Given the description of an element on the screen output the (x, y) to click on. 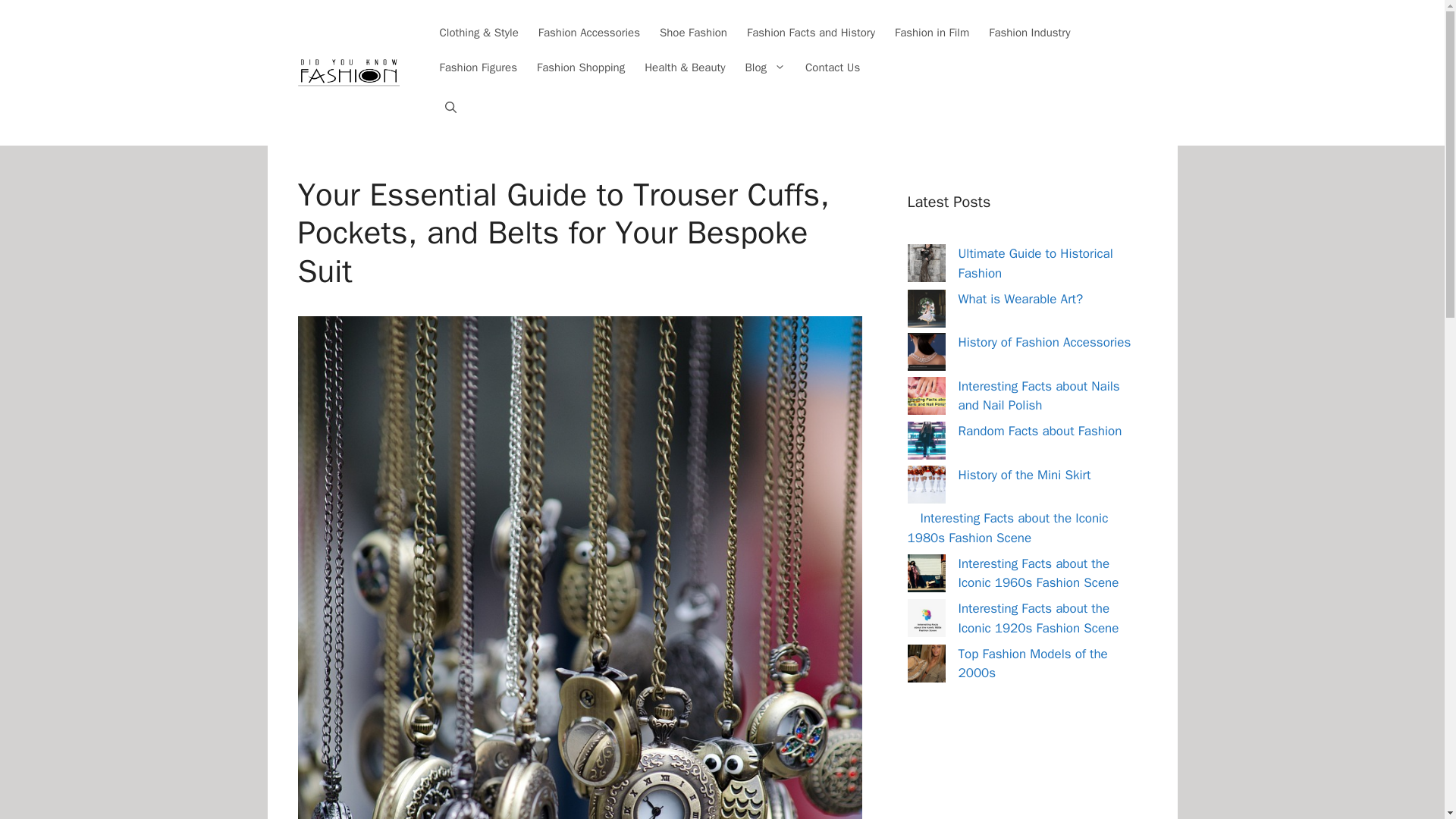
History of Fashion Accessories (1044, 342)
Shoe Fashion (693, 32)
Fashion in Film (931, 32)
Fashion Shopping (580, 67)
Fashion Facts and History (810, 32)
Ultimate Guide to Historical Fashion (1035, 263)
What is Wearable Art? (1020, 299)
Random Facts about Fashion (1040, 430)
History of the Mini Skirt (1024, 474)
Fashion Industry (1029, 32)
